Given the description of an element on the screen output the (x, y) to click on. 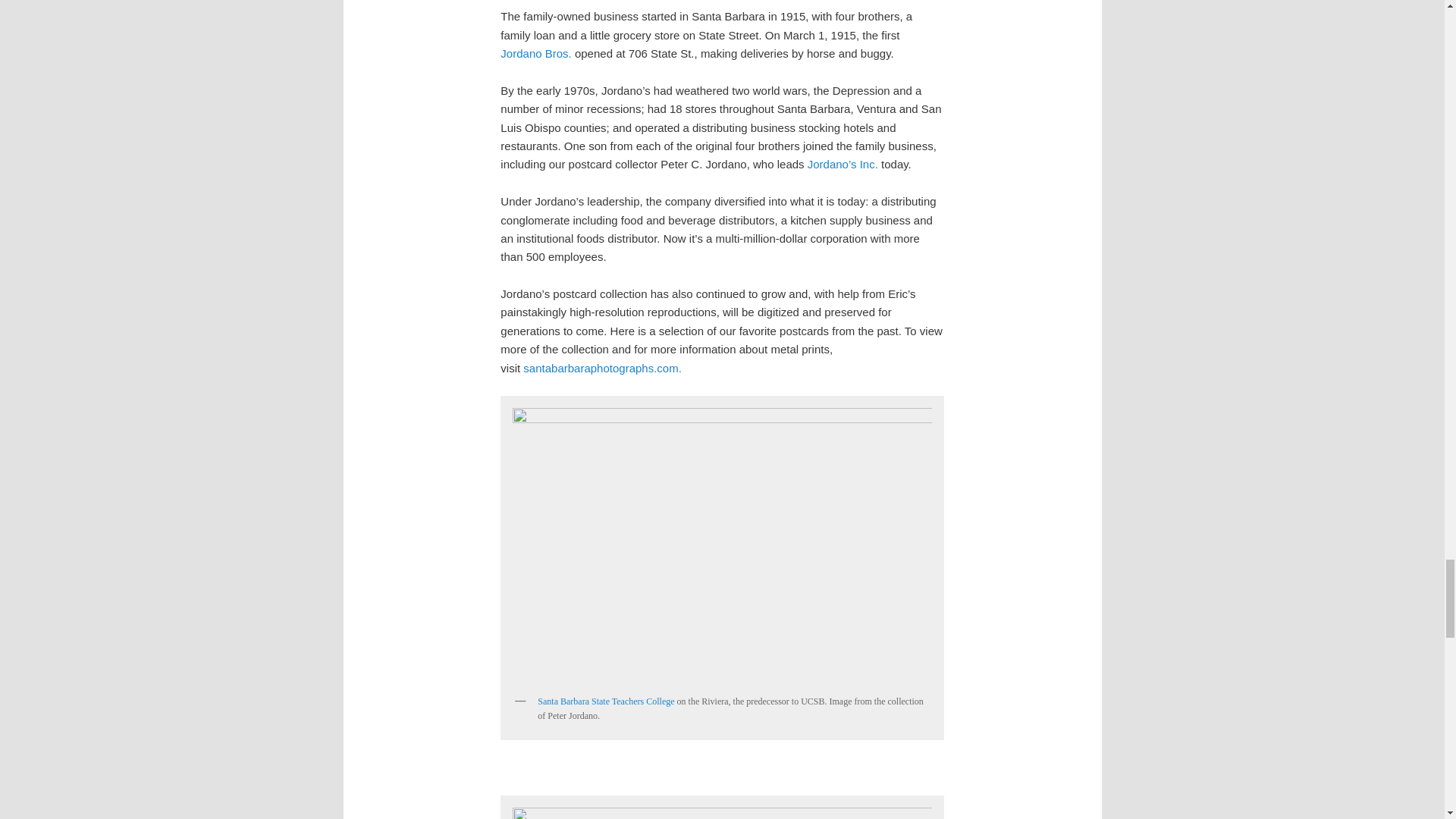
santabarbaraphotographs.com. (601, 367)
Jordano Bros. (535, 52)
Santa Barbara State Teachers College (605, 701)
